Given the description of an element on the screen output the (x, y) to click on. 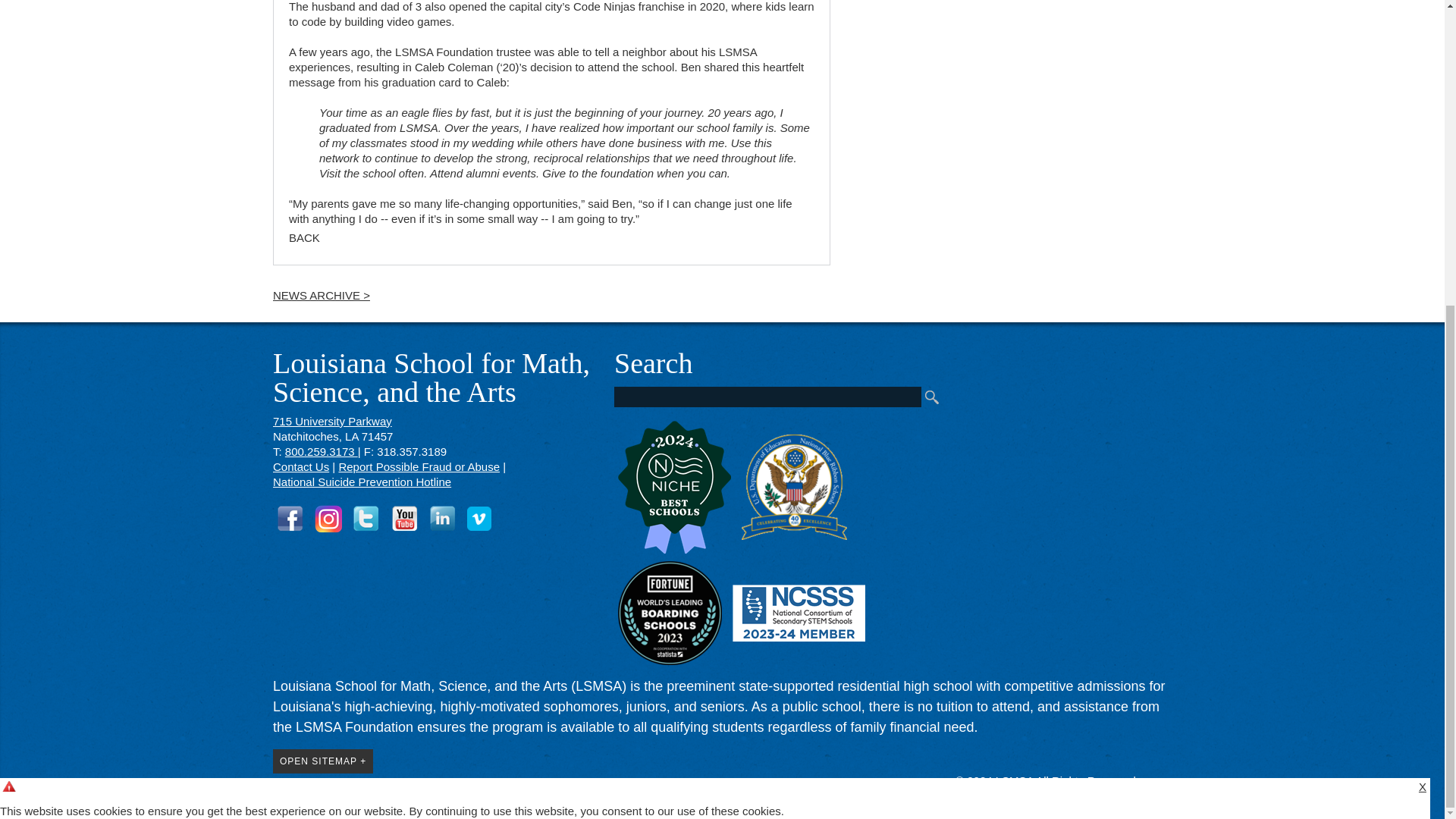
open or close this sitemap (322, 761)
